Given the description of an element on the screen output the (x, y) to click on. 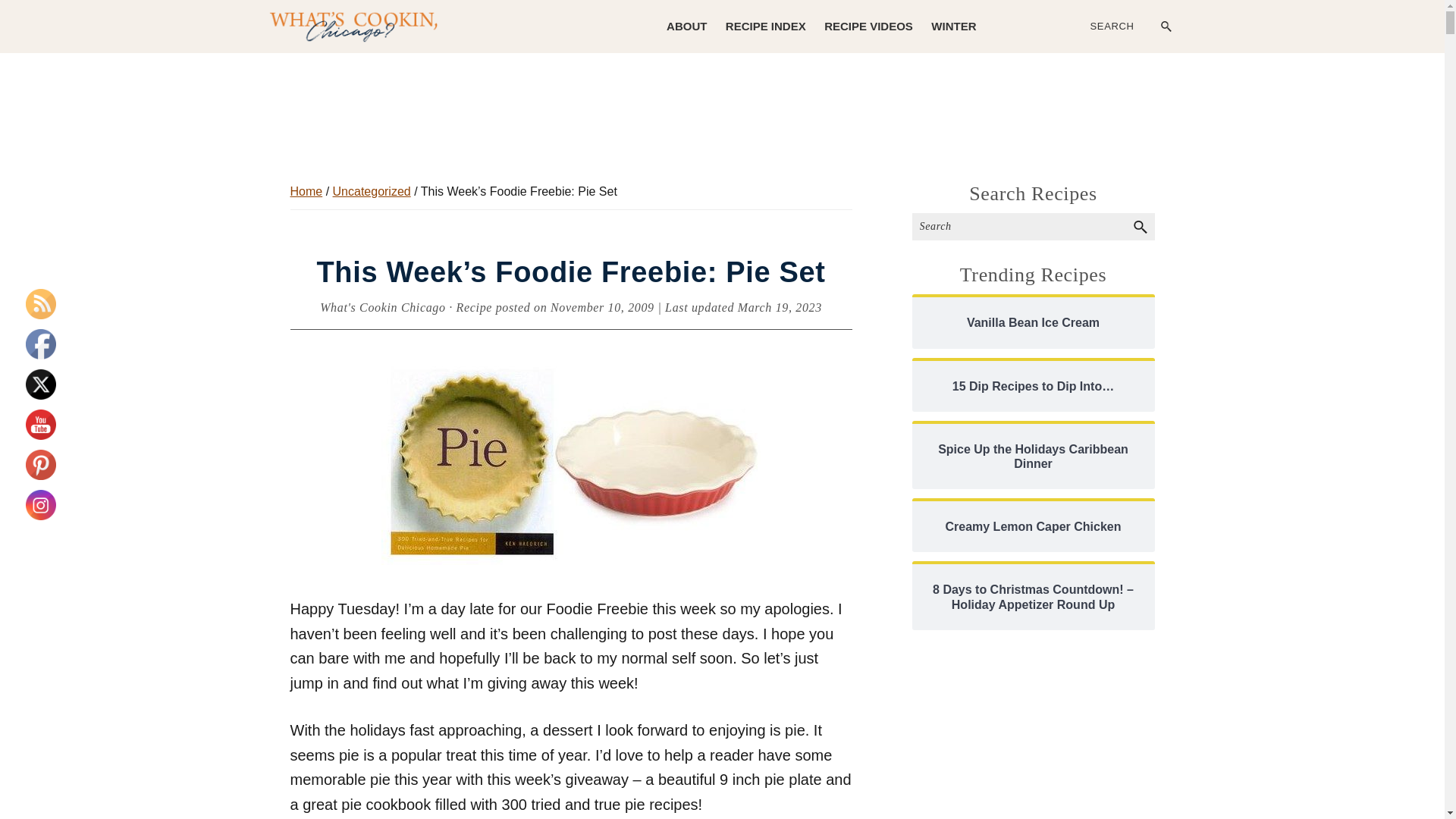
Home (305, 191)
RECIPE VIDEOS (868, 25)
WINTER (953, 25)
ABOUT (686, 25)
Uncategorized (371, 191)
YouTube (41, 424)
Twitter (41, 383)
Facebook (41, 344)
RECIPE INDEX (765, 25)
RSS (41, 303)
